Given the description of an element on the screen output the (x, y) to click on. 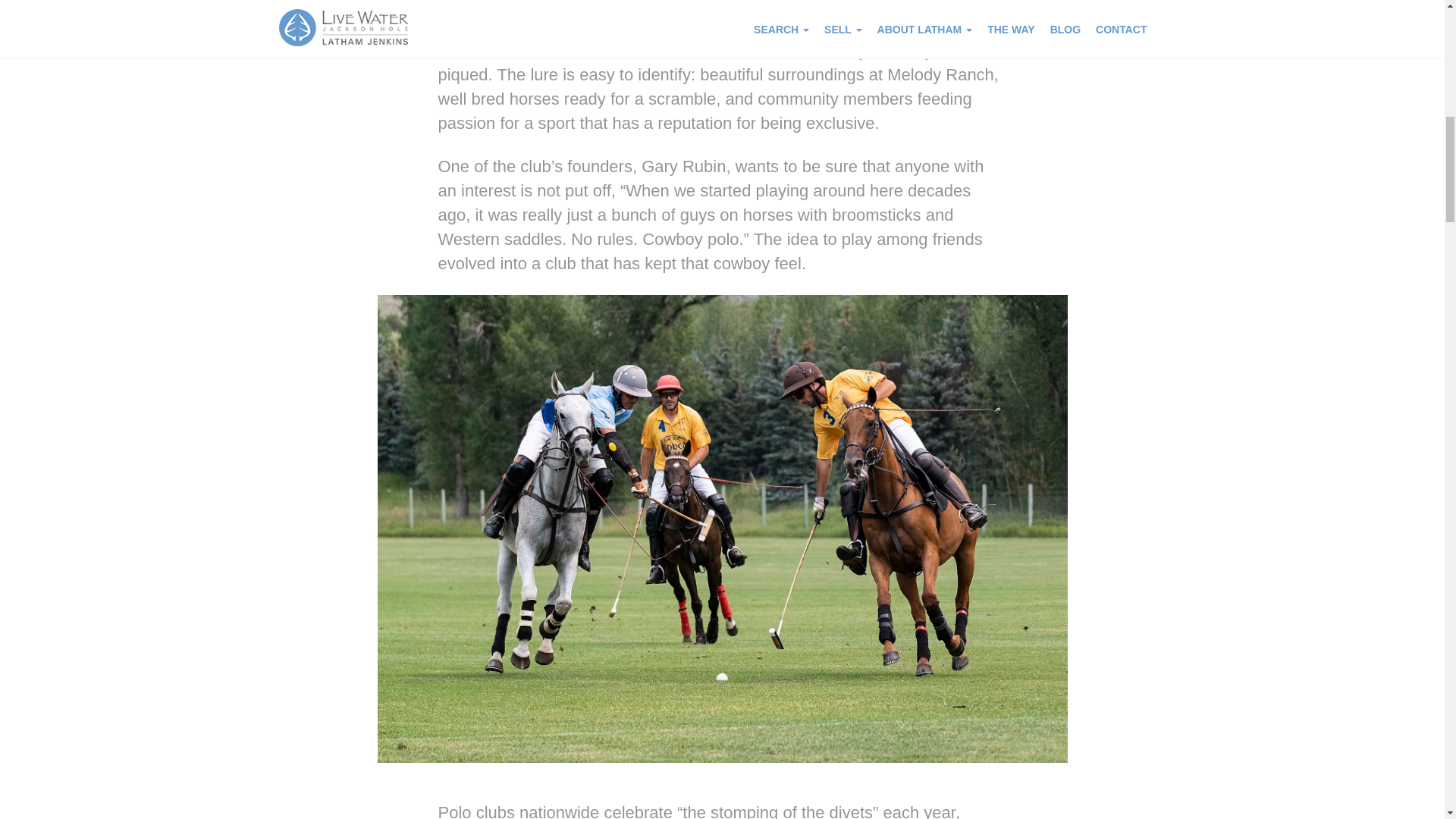
Jackson Hole Polo Club (747, 49)
